Given the description of an element on the screen output the (x, y) to click on. 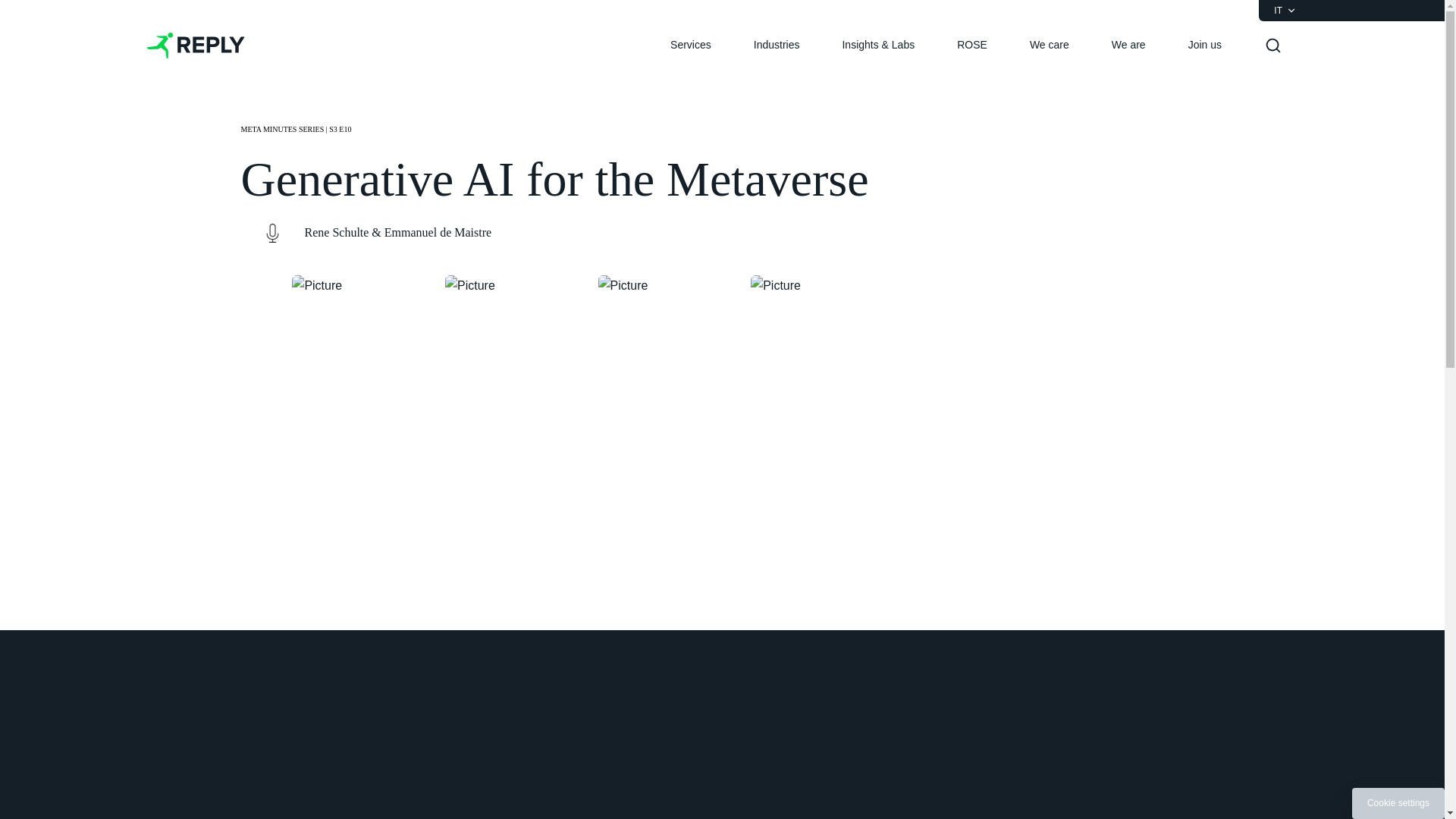
Reply Logo (195, 45)
search (1273, 45)
Reply Logo (195, 45)
Reply (195, 45)
IT (1285, 10)
Industries (776, 45)
